Given the description of an element on the screen output the (x, y) to click on. 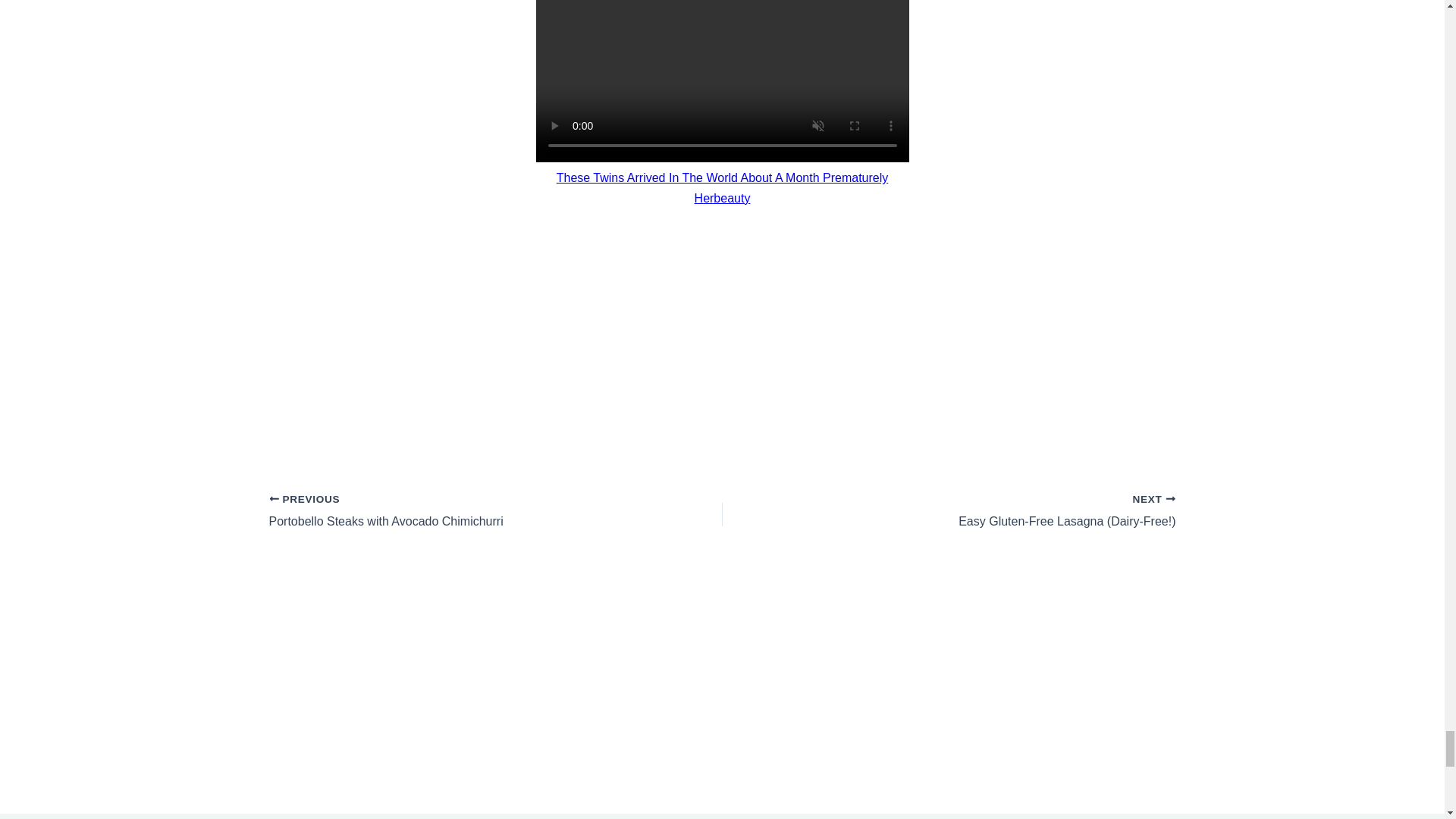
Portobello Steaks with Avocado Chimichurri (449, 511)
